Given the description of an element on the screen output the (x, y) to click on. 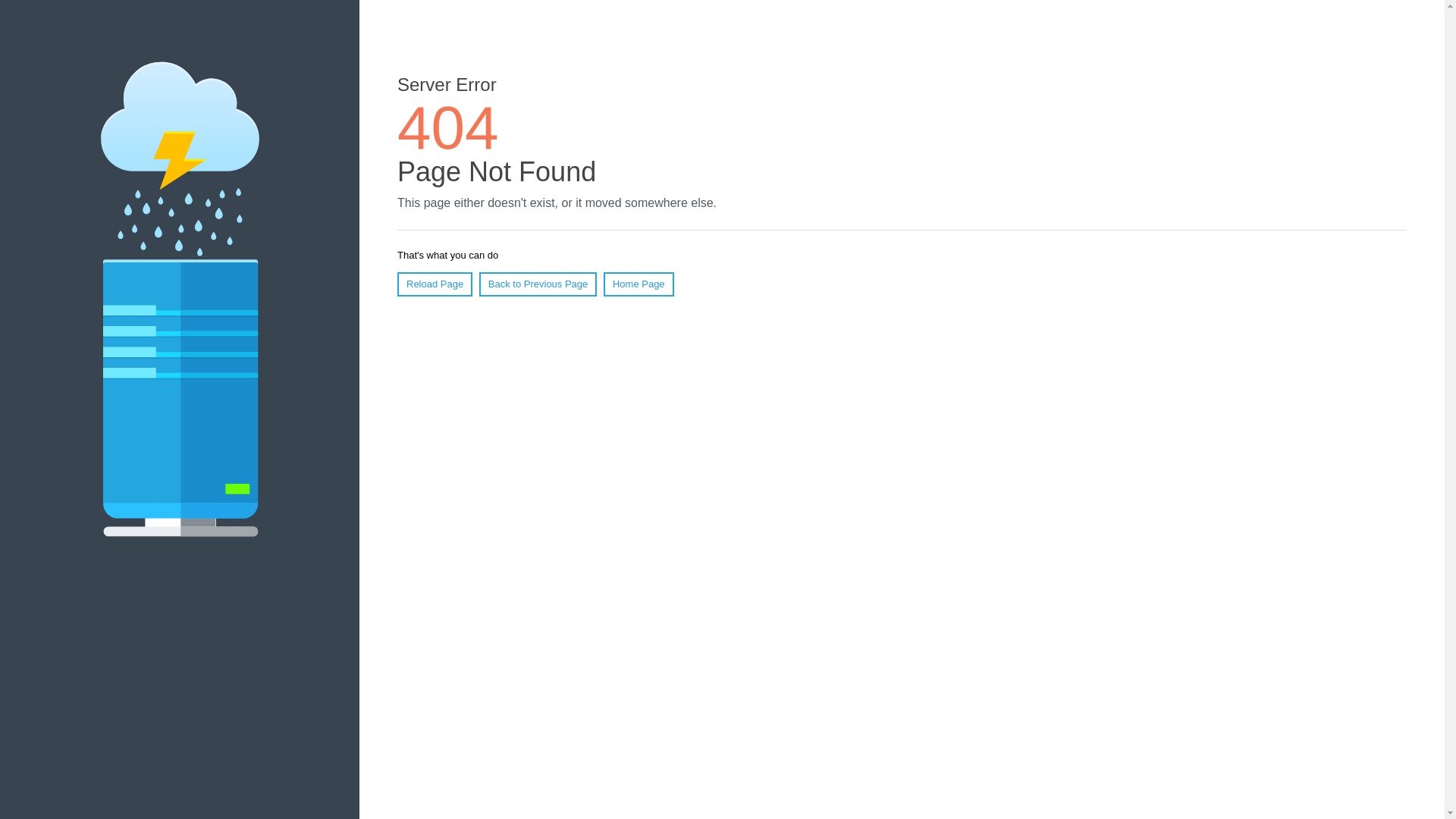
Home Page Element type: text (638, 284)
Back to Previous Page Element type: text (538, 284)
Reload Page Element type: text (434, 284)
